Given the description of an element on the screen output the (x, y) to click on. 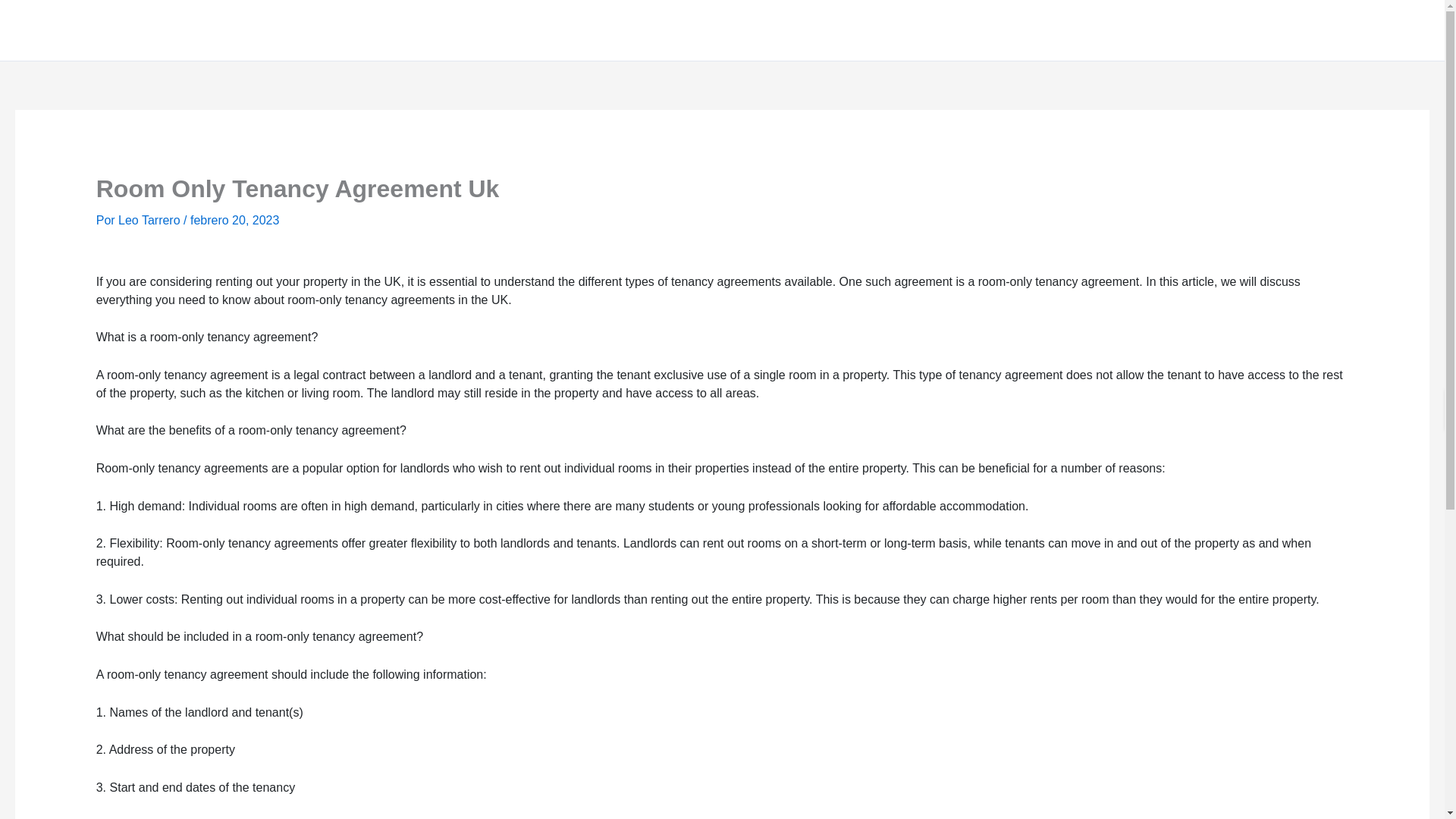
Leo Tarrero (150, 219)
Ver todos los mensajes por Leo Tarrero (150, 219)
